Given the description of an element on the screen output the (x, y) to click on. 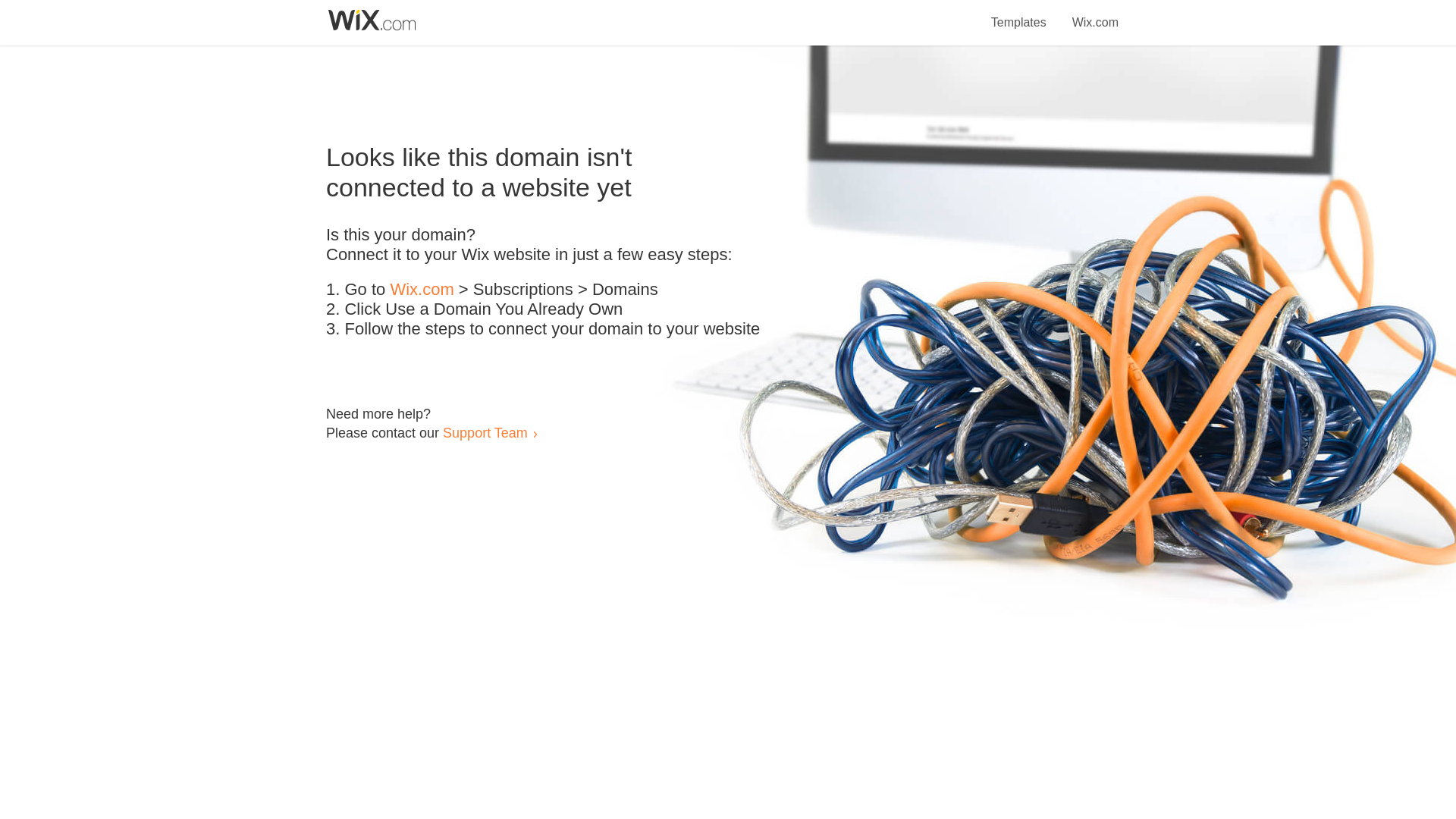
Wix.com (421, 289)
Support Team (484, 432)
Templates (1018, 14)
Wix.com (1095, 14)
